Given the description of an element on the screen output the (x, y) to click on. 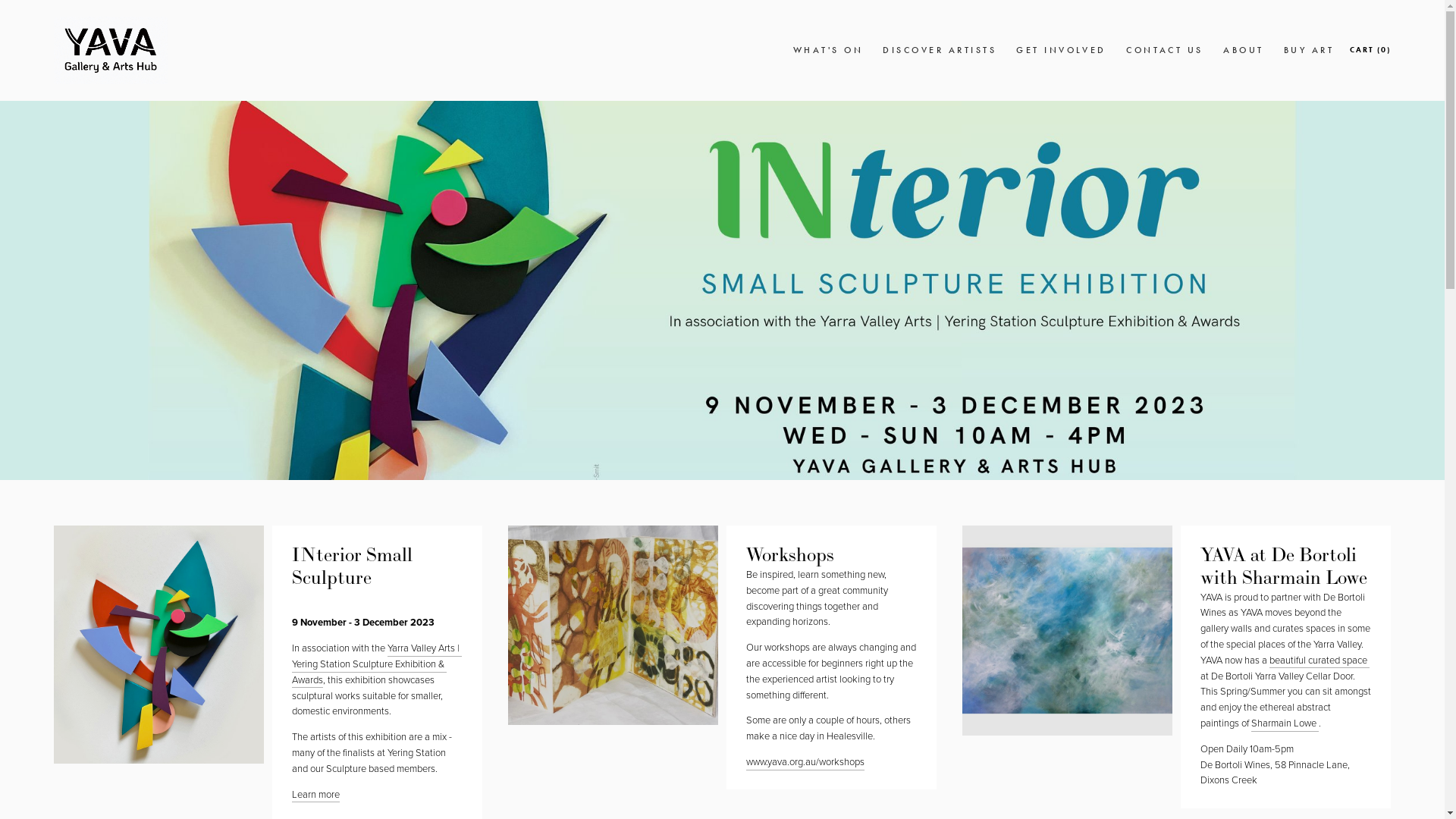
Sharmain Lowe Element type: text (1283, 723)
DISCOVER ARTISTS Element type: text (939, 50)
BUY ART Element type: text (1308, 49)
  Element type: text (1317, 723)
GET INVOLVED Element type: text (1061, 49)
www.yava.org.au/workshops Element type: text (805, 762)
beautiful curated space  Element type: text (1319, 660)
ABOUT Element type: text (1243, 49)
Learn more Element type: text (315, 795)
CONTACT US Element type: text (1164, 50)
CART 0 Element type: text (1370, 49)
WHAT'S ON Element type: text (827, 49)
